Given the description of an element on the screen output the (x, y) to click on. 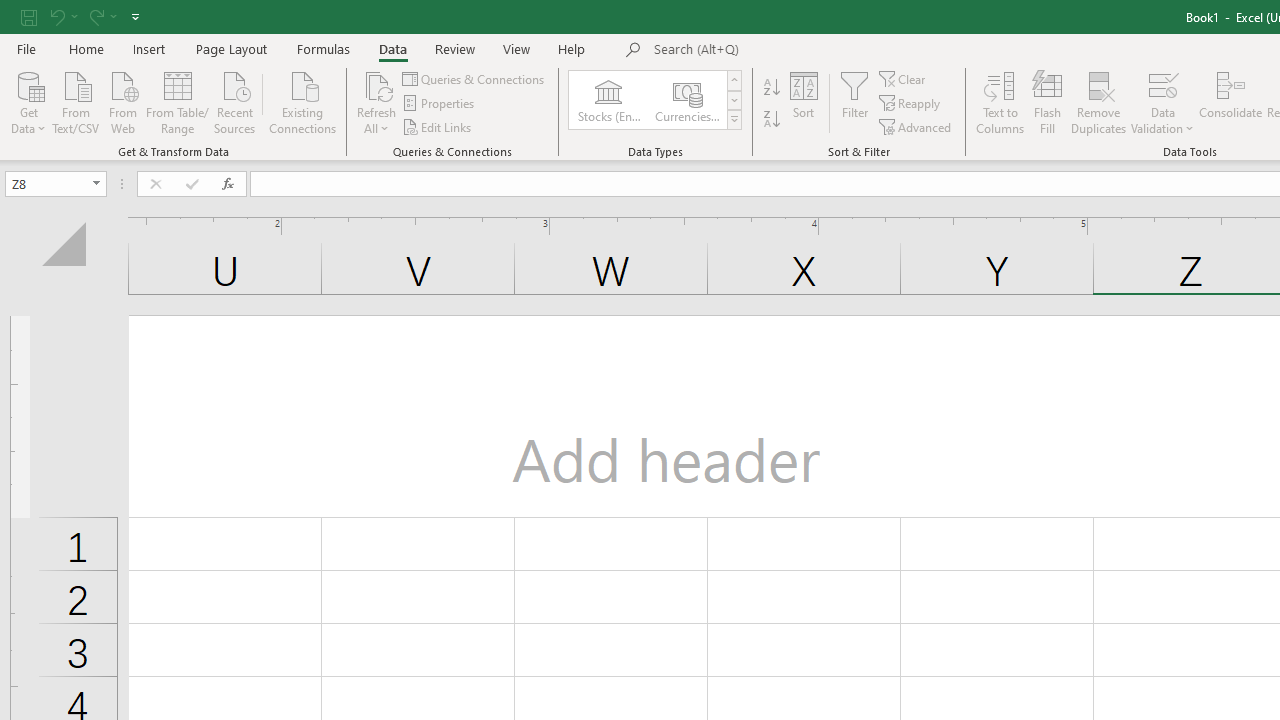
Name Box (46, 183)
Flash Fill (1047, 102)
Page Layout (230, 48)
Formulas (323, 48)
Data Validation... (1162, 102)
Text to Columns... (1000, 102)
Remove Duplicates (1098, 102)
Redo (102, 15)
From Web (122, 101)
Help (572, 48)
Customize Quick Access Toolbar (135, 15)
Reapply (911, 103)
Home (86, 48)
Consolidate... (1230, 102)
Data Validation... (1162, 84)
